Given the description of an element on the screen output the (x, y) to click on. 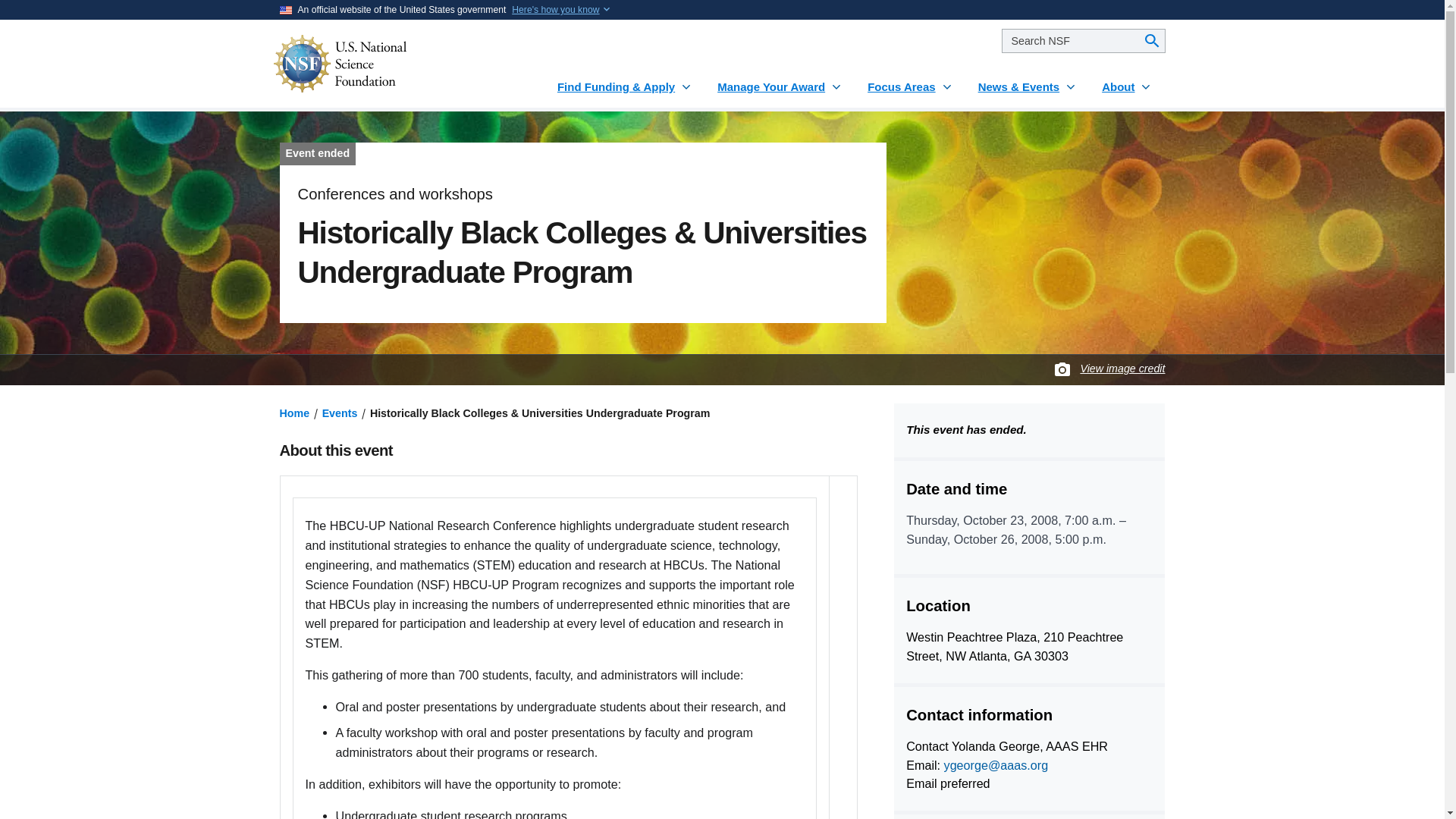
Events (339, 413)
NSF - National Science Foundation - Home (385, 63)
Home (293, 413)
Manage Your Award (780, 80)
Focus Areas (910, 80)
About (1126, 80)
search (1082, 40)
Here's how you know (555, 9)
View image credit (1122, 368)
